Given the description of an element on the screen output the (x, y) to click on. 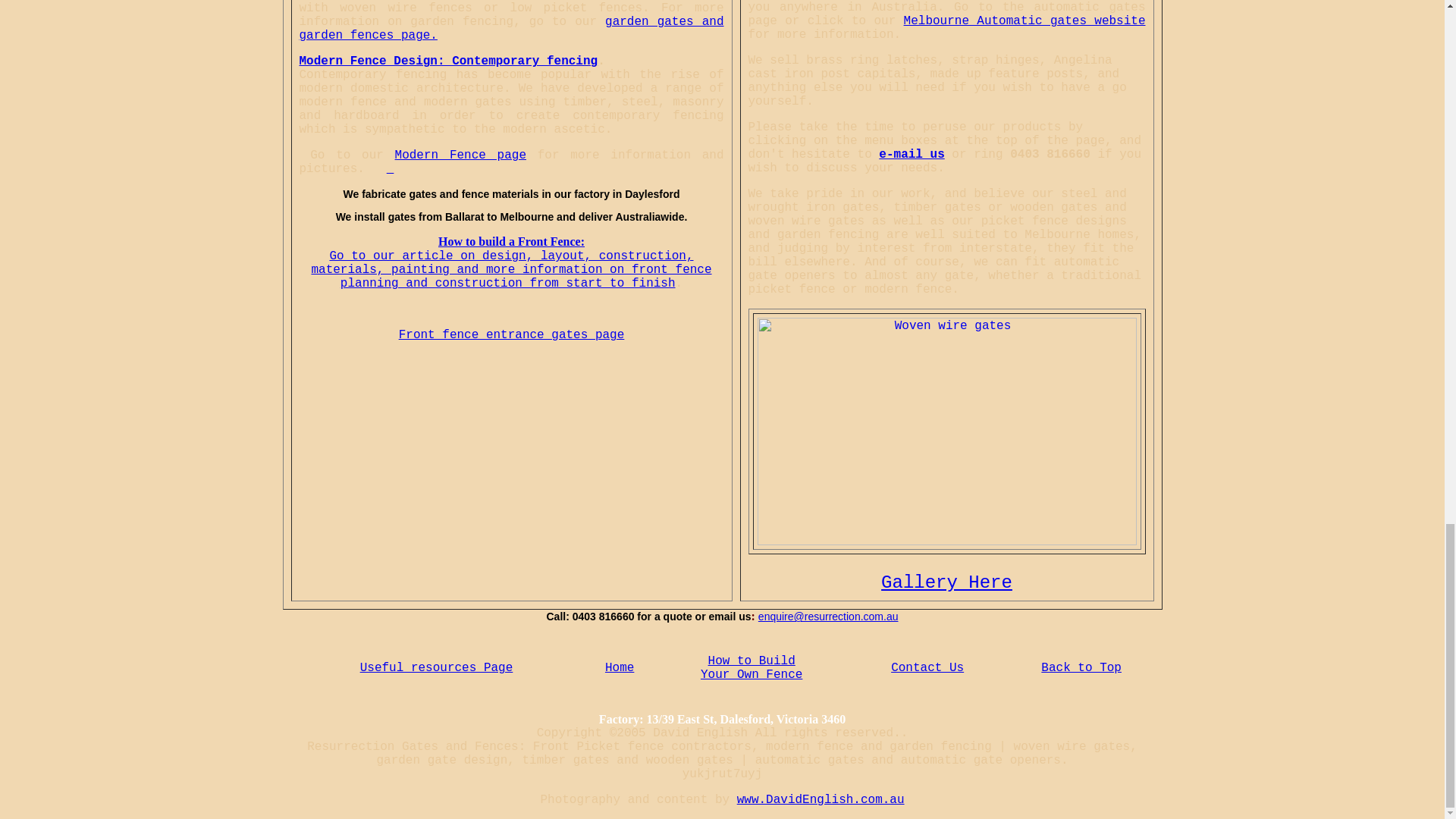
Modern Fence page (459, 155)
Front fence entrance gates page (511, 335)
How to build a Front Fence: (511, 241)
garden gates and garden fences page. (510, 28)
Front Entrance Gates (511, 335)
Modern Fence Design: Contemporary fencing (447, 60)
